Given the description of an element on the screen output the (x, y) to click on. 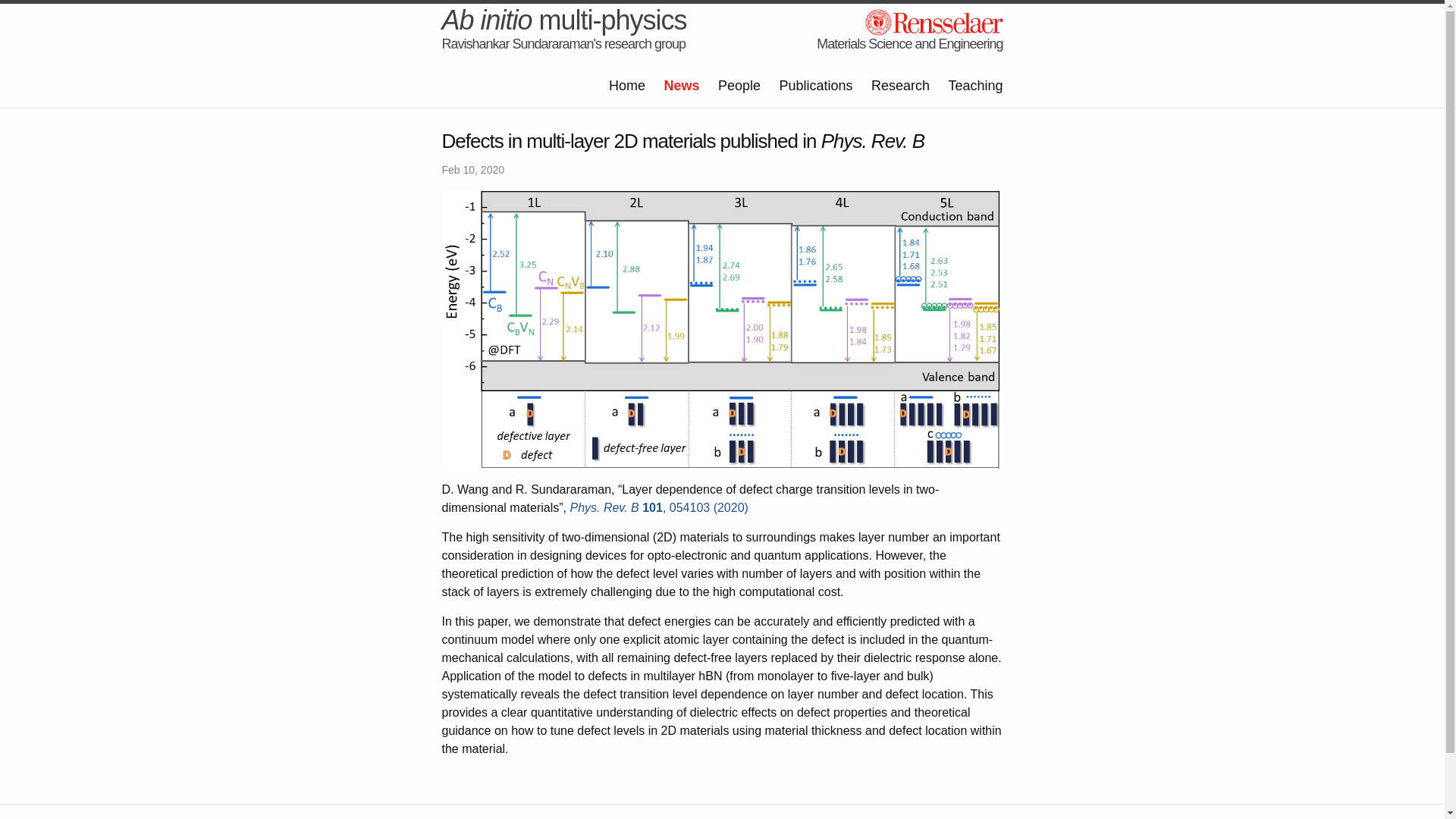
Home (626, 85)
Publications (814, 85)
Research (900, 85)
News (680, 85)
Teaching (975, 85)
Materials Science and Engineering (909, 43)
People (738, 85)
